Given the description of an element on the screen output the (x, y) to click on. 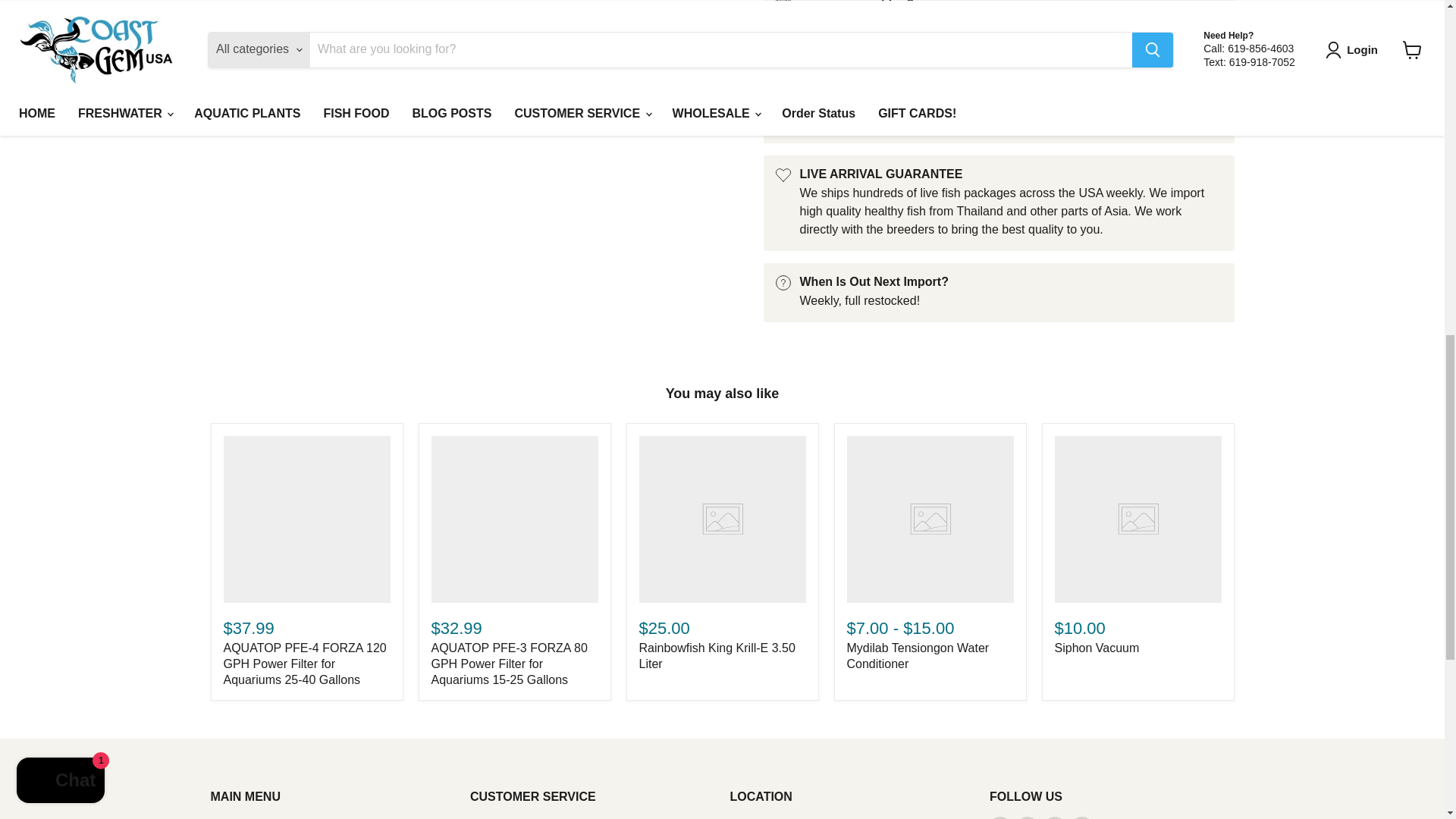
Instagram (1027, 817)
Facebook (1000, 817)
Vimeo (1054, 817)
YouTube (1082, 817)
